Given the description of an element on the screen output the (x, y) to click on. 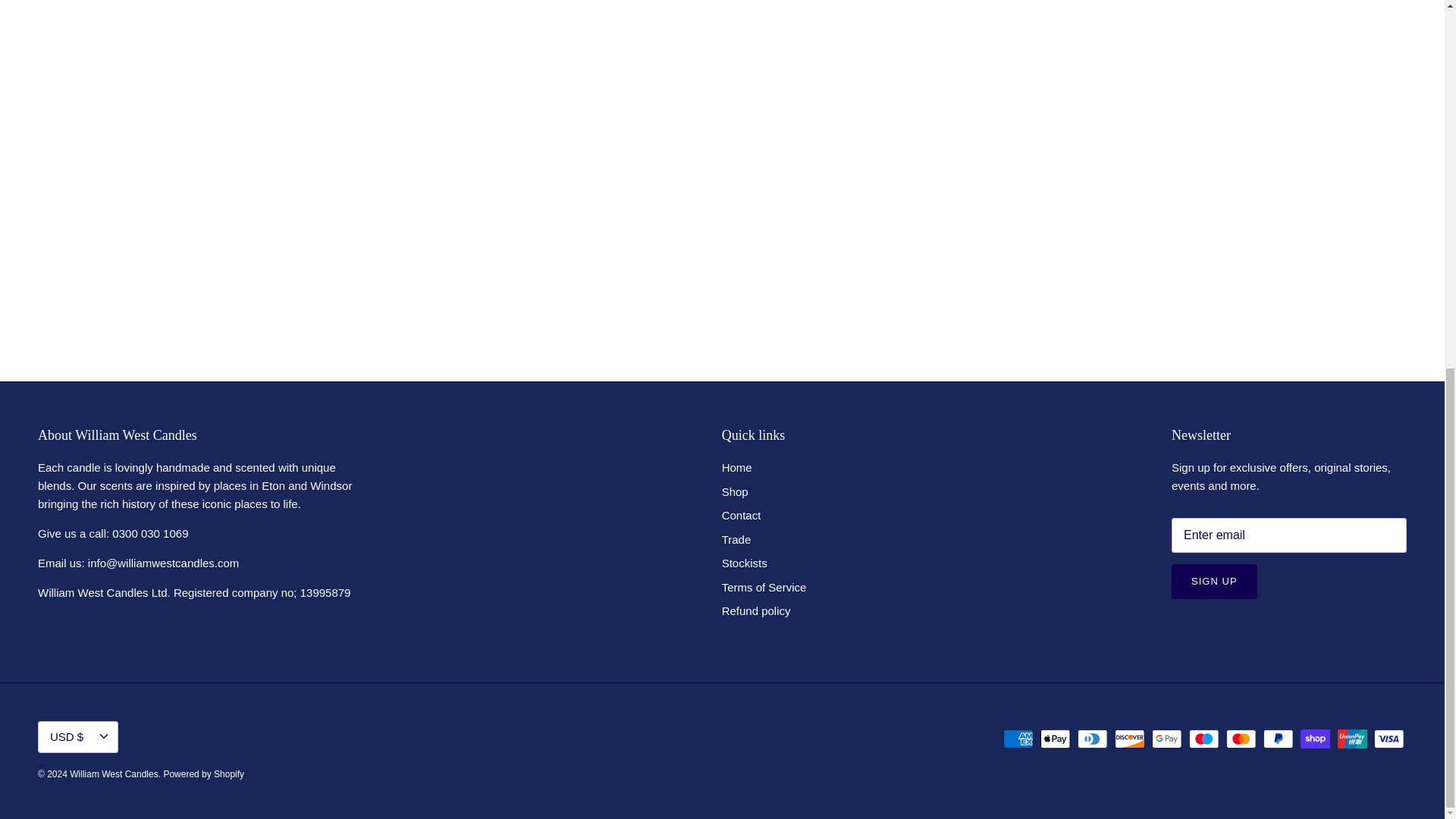
Google Pay (1166, 738)
American Express (1018, 738)
Union Pay (1352, 738)
Mastercard (1240, 738)
Shop Pay (1315, 738)
Maestro (1203, 738)
Discover (1129, 738)
PayPal (1277, 738)
Diners Club (1092, 738)
Apple Pay (1055, 738)
